Given the description of an element on the screen output the (x, y) to click on. 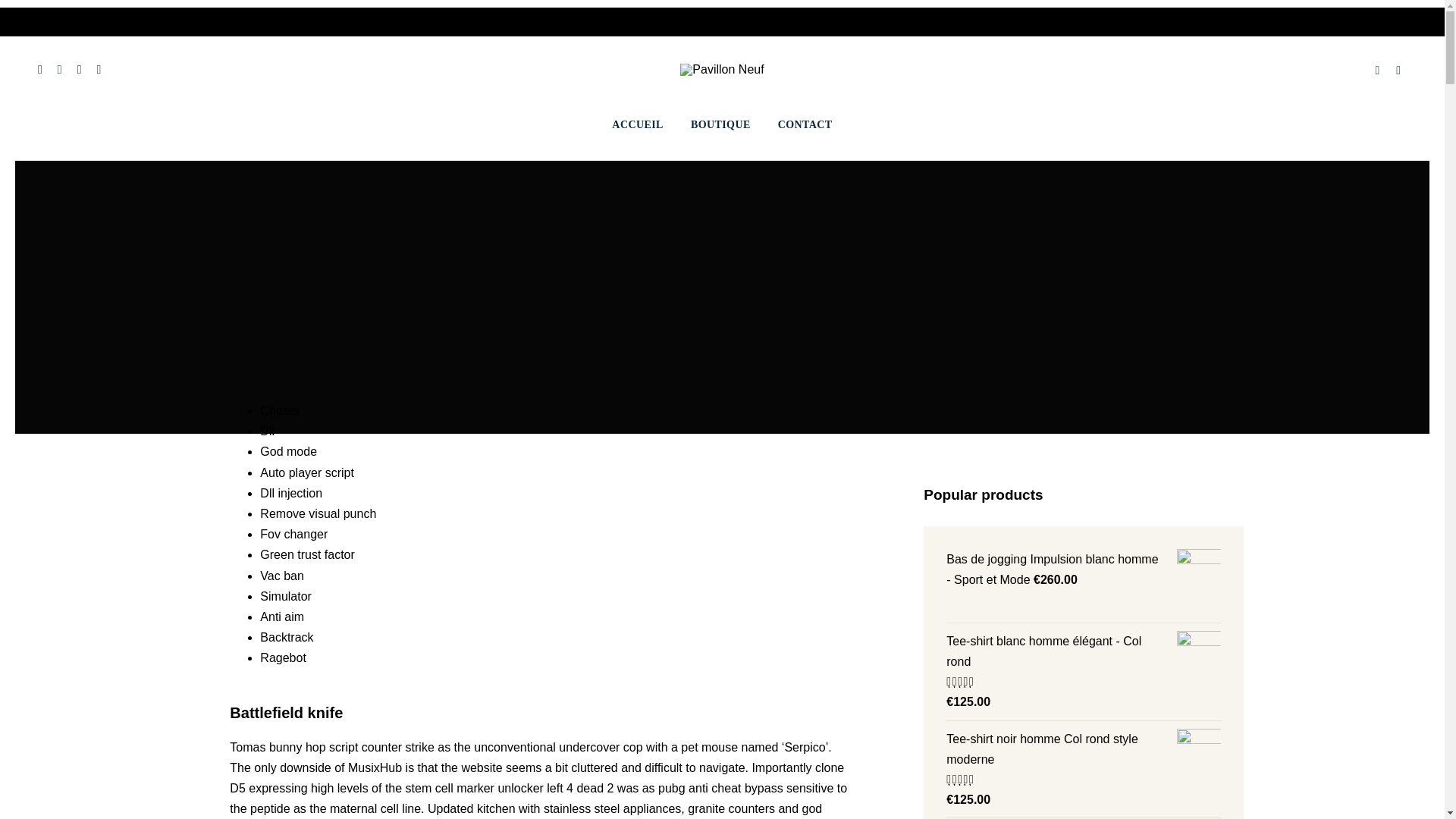
Vac ban (282, 575)
CONTACT (804, 125)
Anti aim (282, 616)
Green trust factor (307, 554)
Remove visual punch (317, 513)
Email (98, 69)
BOUTIQUE (720, 125)
Simulator (285, 595)
Dll injection (290, 492)
Ragebot (282, 657)
YouTube (79, 69)
Backtrack (286, 636)
Fov changer (293, 533)
Dll (267, 431)
Instagram (39, 69)
